Given the description of an element on the screen output the (x, y) to click on. 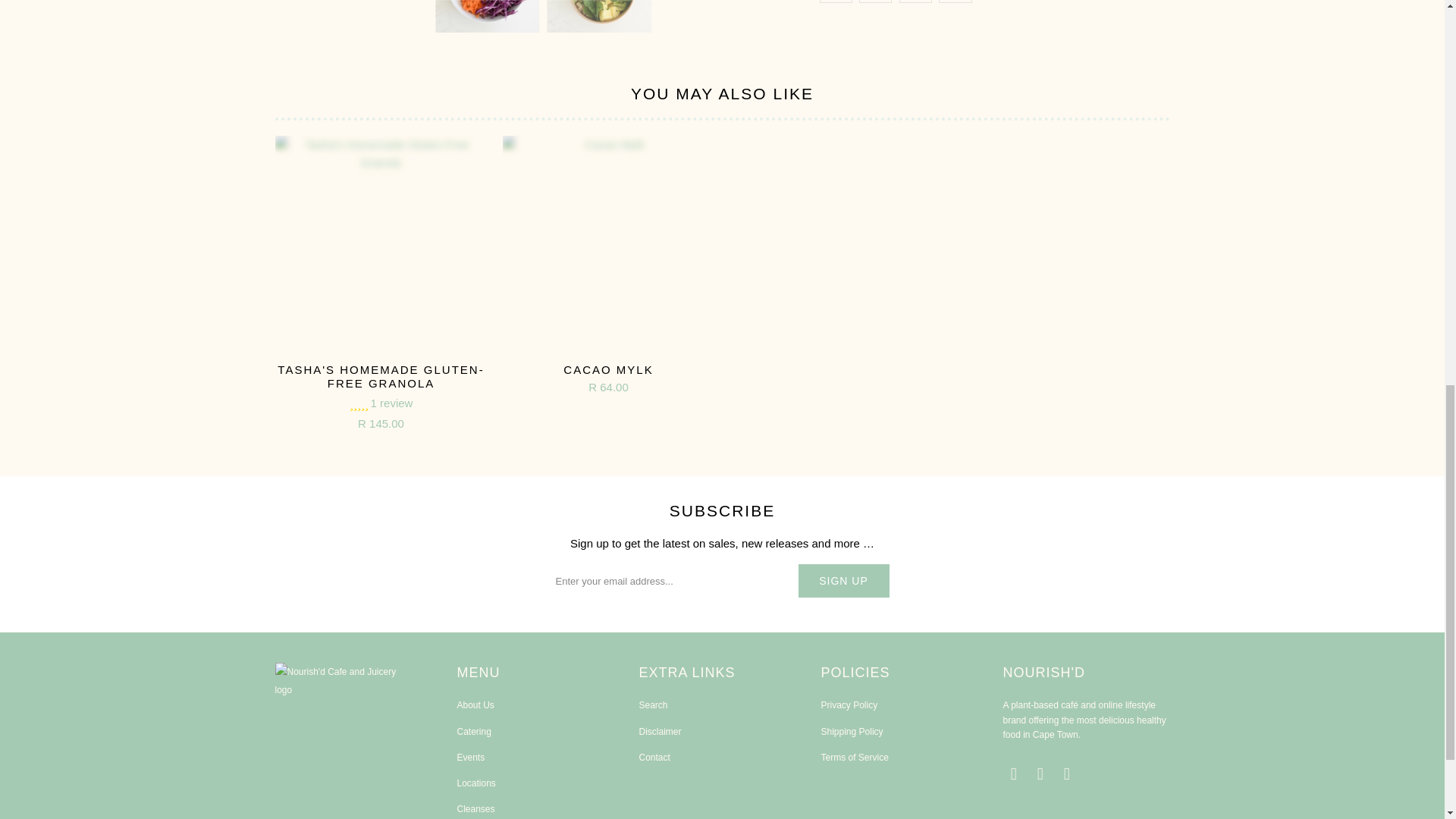
Share this on Pinterest (915, 1)
Email this to a friend (955, 1)
Sign Up (842, 580)
Share this on Twitter (834, 1)
Share this on Facebook (875, 1)
